Given the description of an element on the screen output the (x, y) to click on. 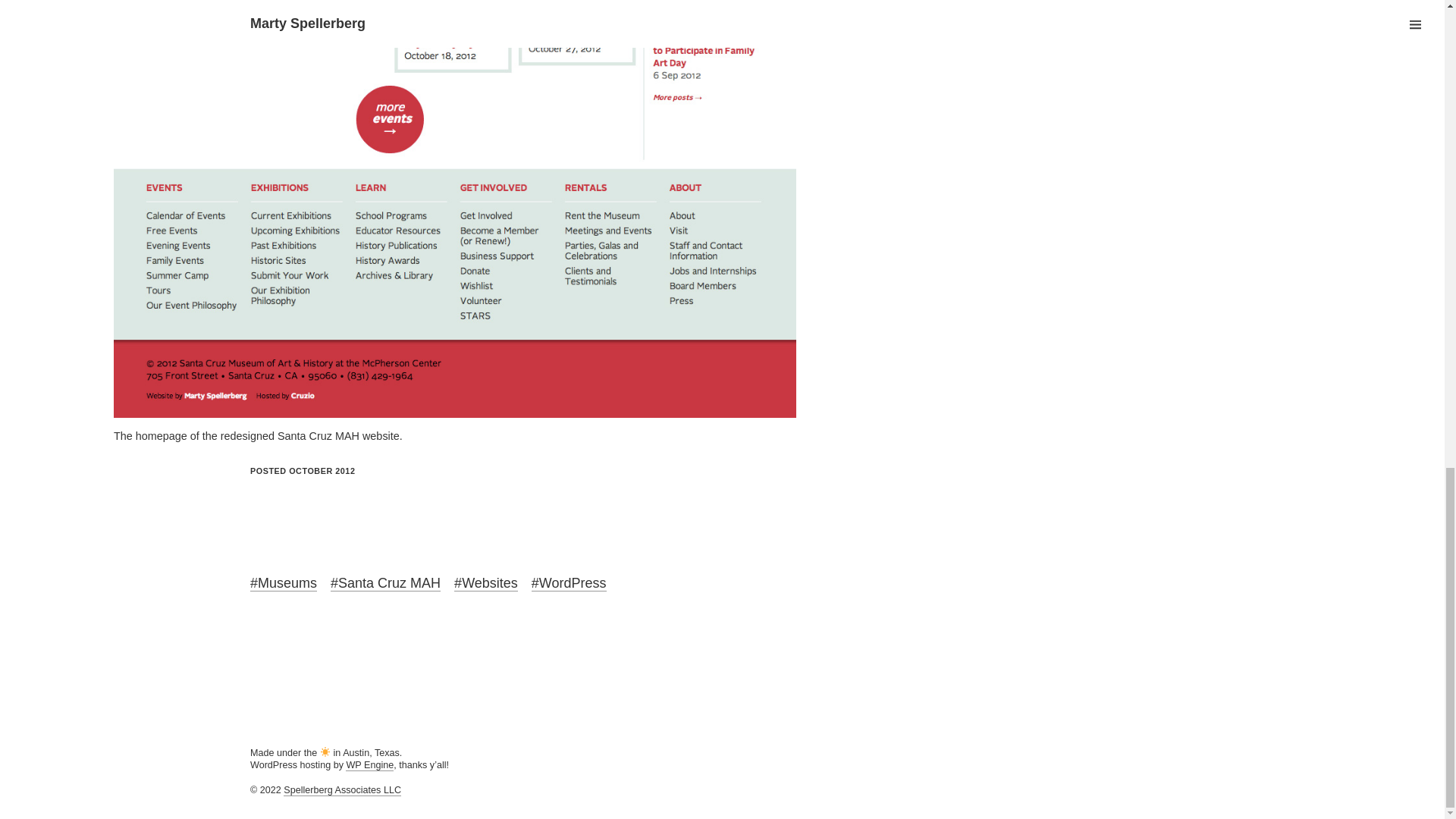
Museums (283, 583)
WordPress (569, 583)
Santa Cruz MAH (385, 583)
WP Engine (369, 765)
Spellerberg Associates LLC (342, 790)
Websites (486, 583)
